Given the description of an element on the screen output the (x, y) to click on. 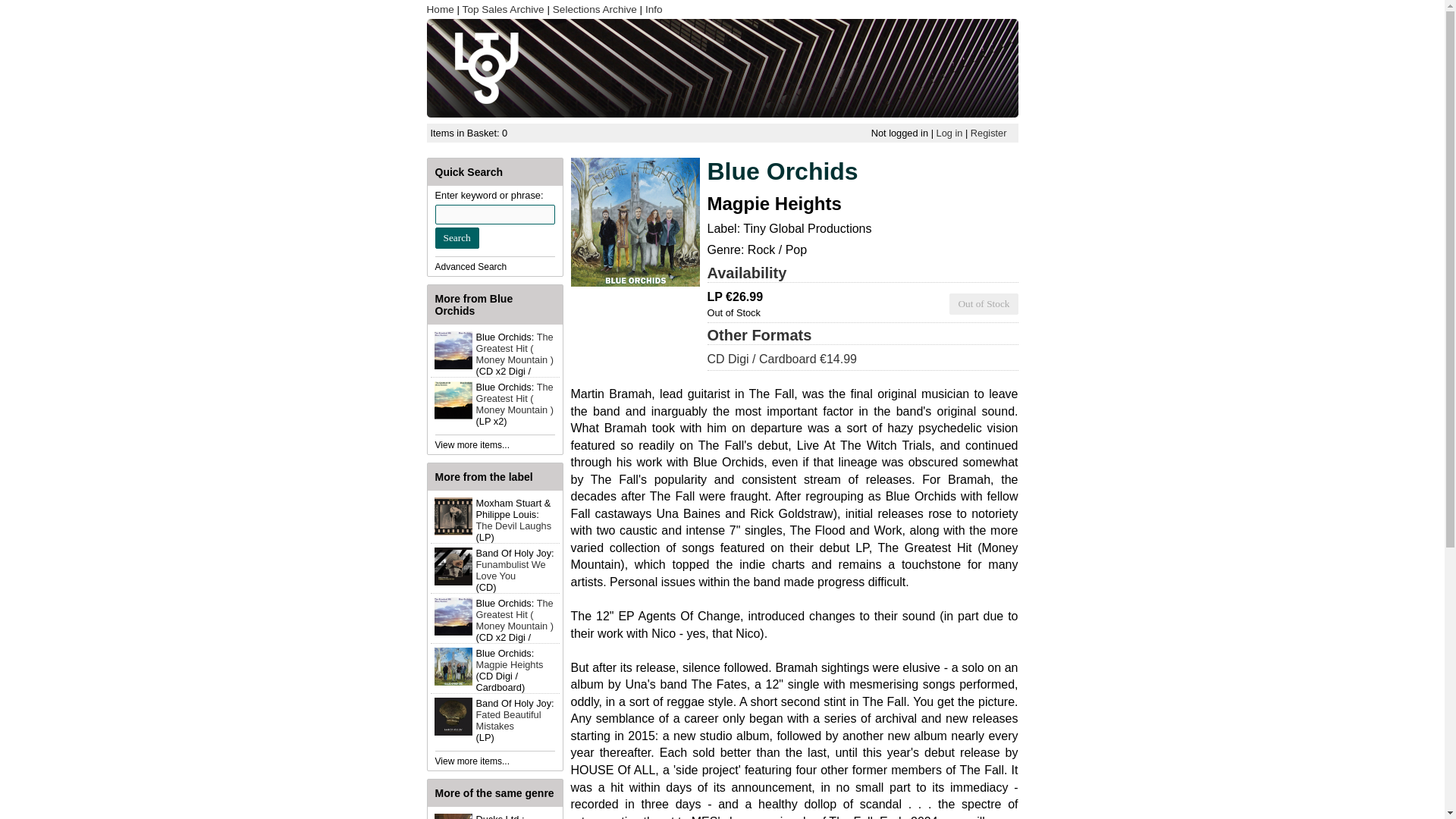
Home (439, 9)
Log in (949, 132)
Search (457, 237)
Advanced Search (470, 266)
Out of Stock (983, 303)
Magpie Heights (509, 664)
View more items... (472, 444)
Funambulist We Love You (511, 569)
Info (653, 9)
Register (989, 132)
Search (457, 237)
Selections Archive (595, 9)
Out of Stock (983, 303)
Top Sales Archive (503, 9)
Fated Beautiful Mistakes (508, 720)
